Given the description of an element on the screen output the (x, y) to click on. 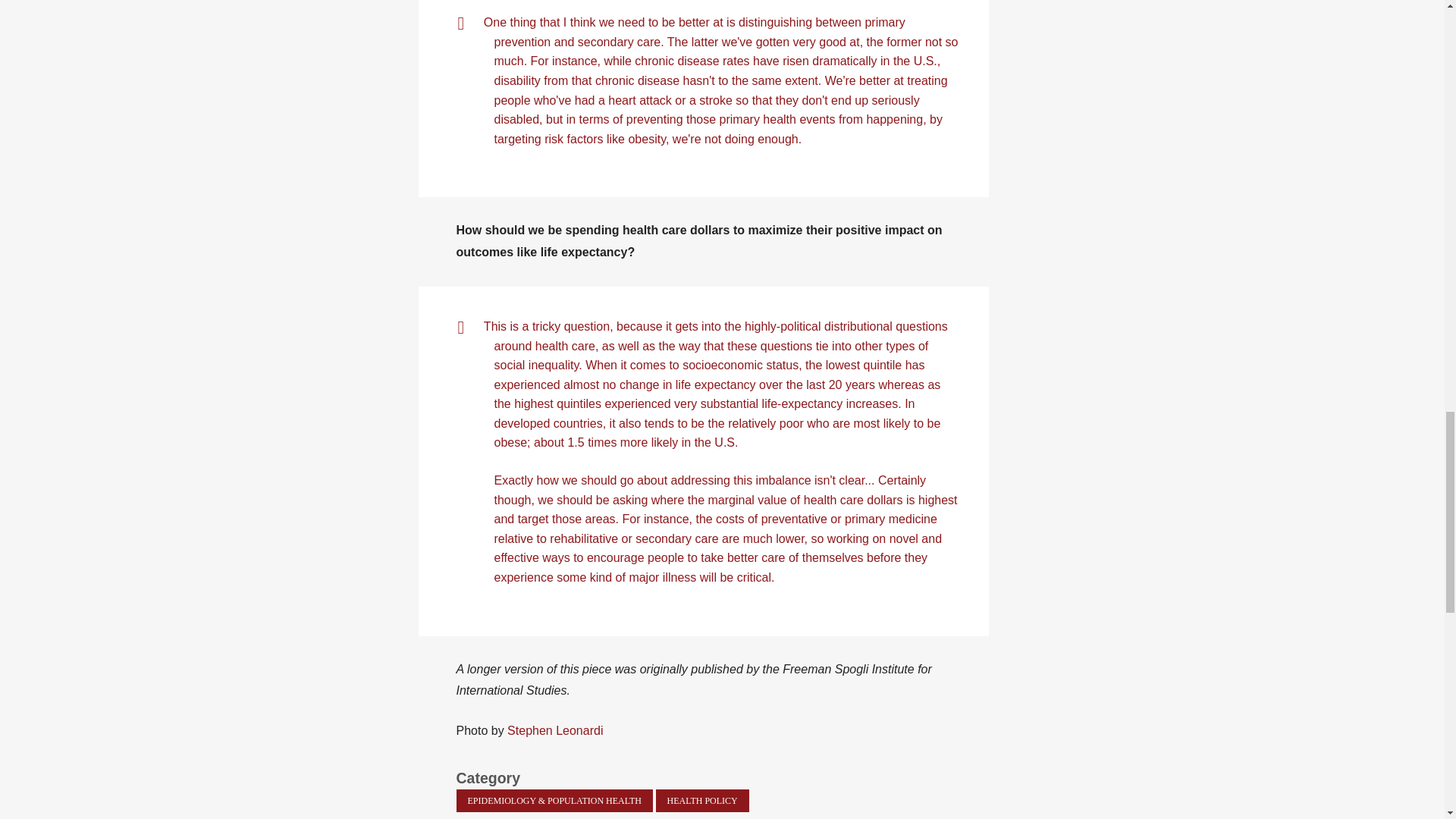
Stephen Leonardi (554, 730)
HEALTH POLICY (702, 800)
almost no change in life expectancy (659, 384)
